Given the description of an element on the screen output the (x, y) to click on. 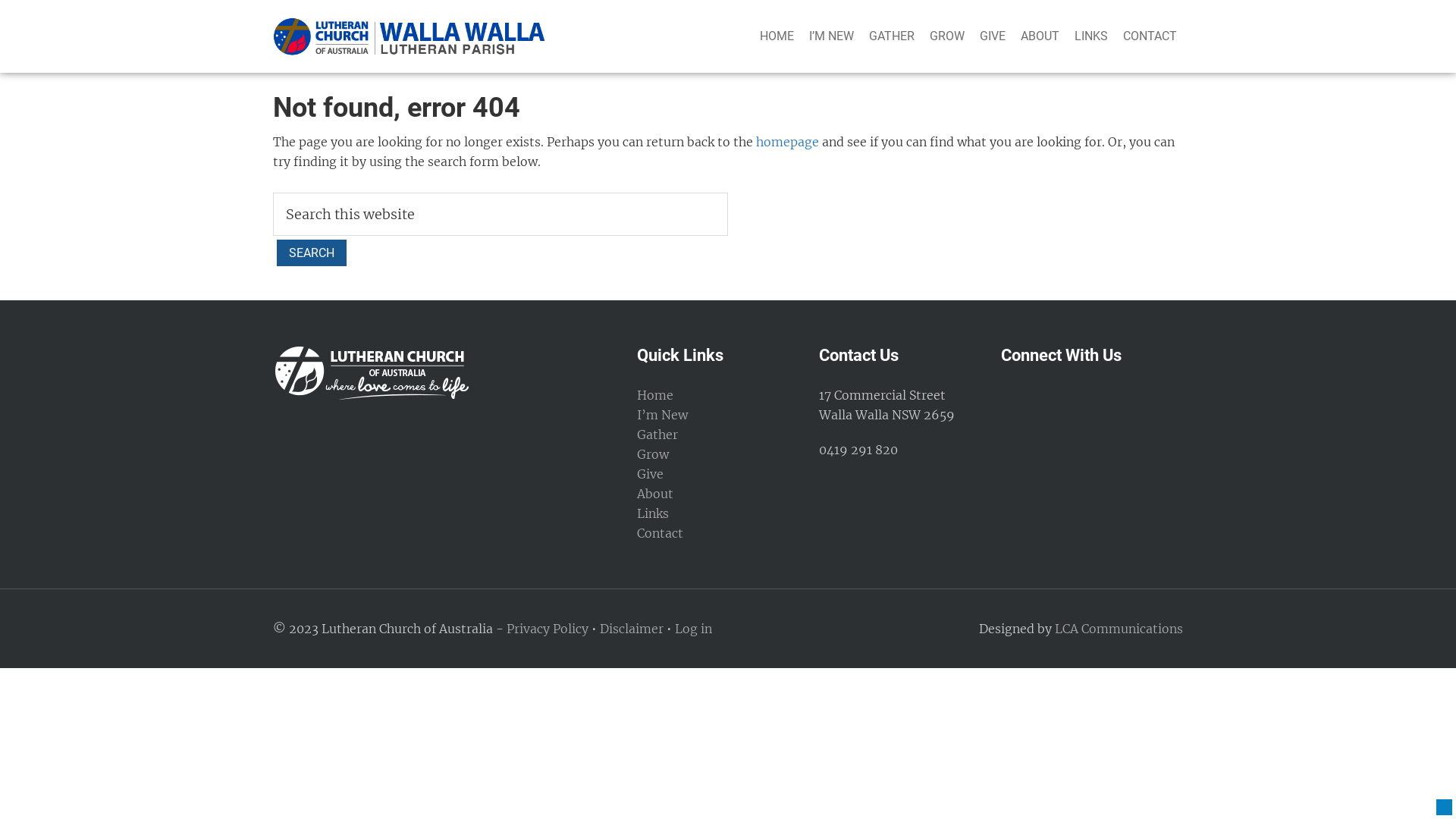
GROW Element type: text (946, 36)
Privacy Policy Element type: text (547, 628)
Home Element type: text (655, 394)
CONTACT Element type: text (1150, 36)
Skip to main content Element type: text (0, 0)
LCA Communications Element type: text (1118, 628)
WALLA WALLA PARISH, NSW Element type: text (409, 36)
Give Element type: text (650, 473)
Gather Element type: text (657, 434)
HOME Element type: text (776, 36)
Links Element type: text (652, 512)
homepage Element type: text (787, 141)
Grow Element type: text (652, 453)
LINKS Element type: text (1090, 36)
About Element type: text (655, 493)
GIVE Element type: text (992, 36)
Search Element type: text (311, 252)
GATHER Element type: text (891, 36)
Contact Element type: text (660, 532)
Disclaimer Element type: text (631, 628)
ABOUT Element type: text (1039, 36)
Log in Element type: text (693, 628)
